Given the description of an element on the screen output the (x, y) to click on. 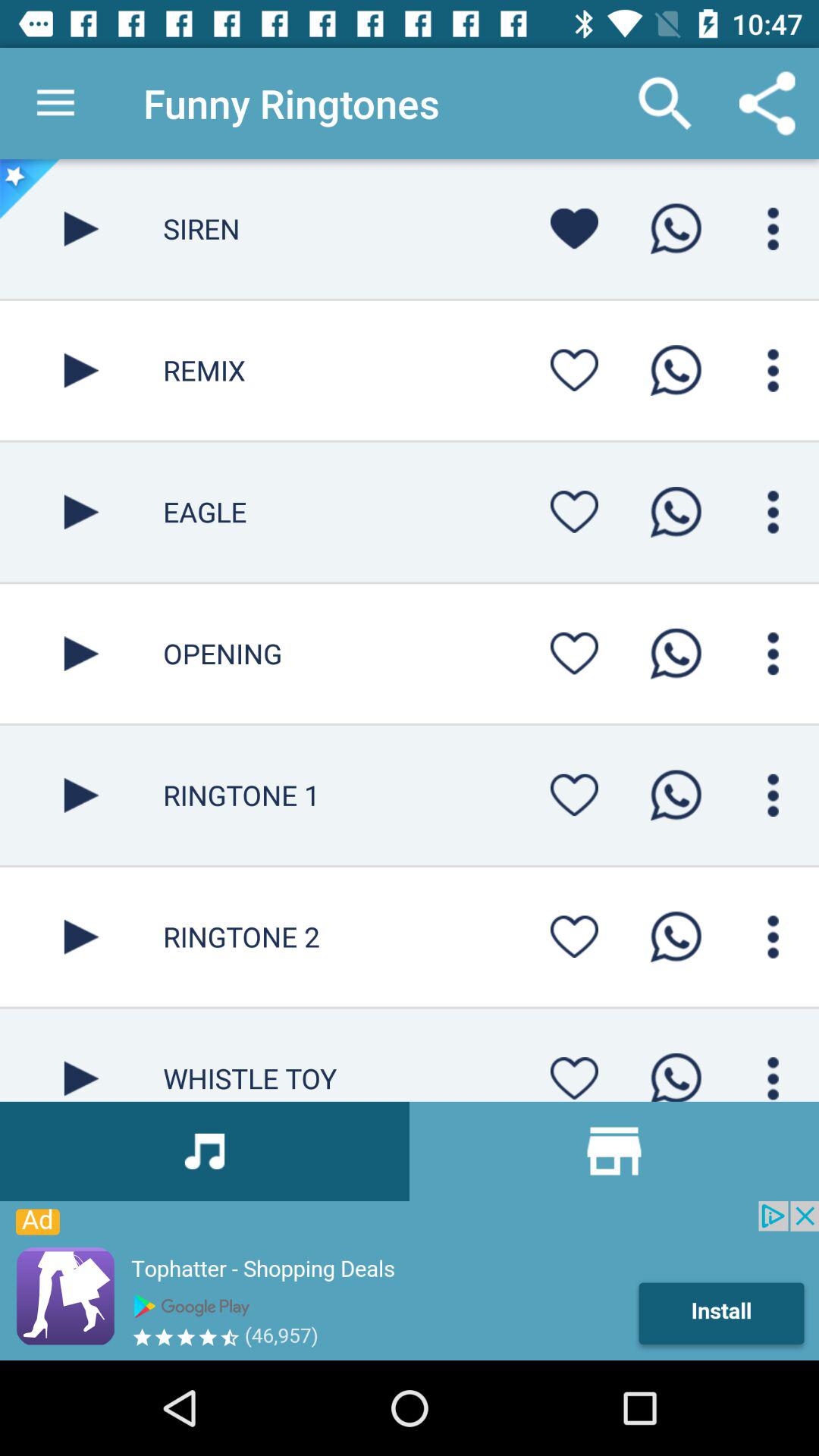
go to favorite (574, 653)
